Given the description of an element on the screen output the (x, y) to click on. 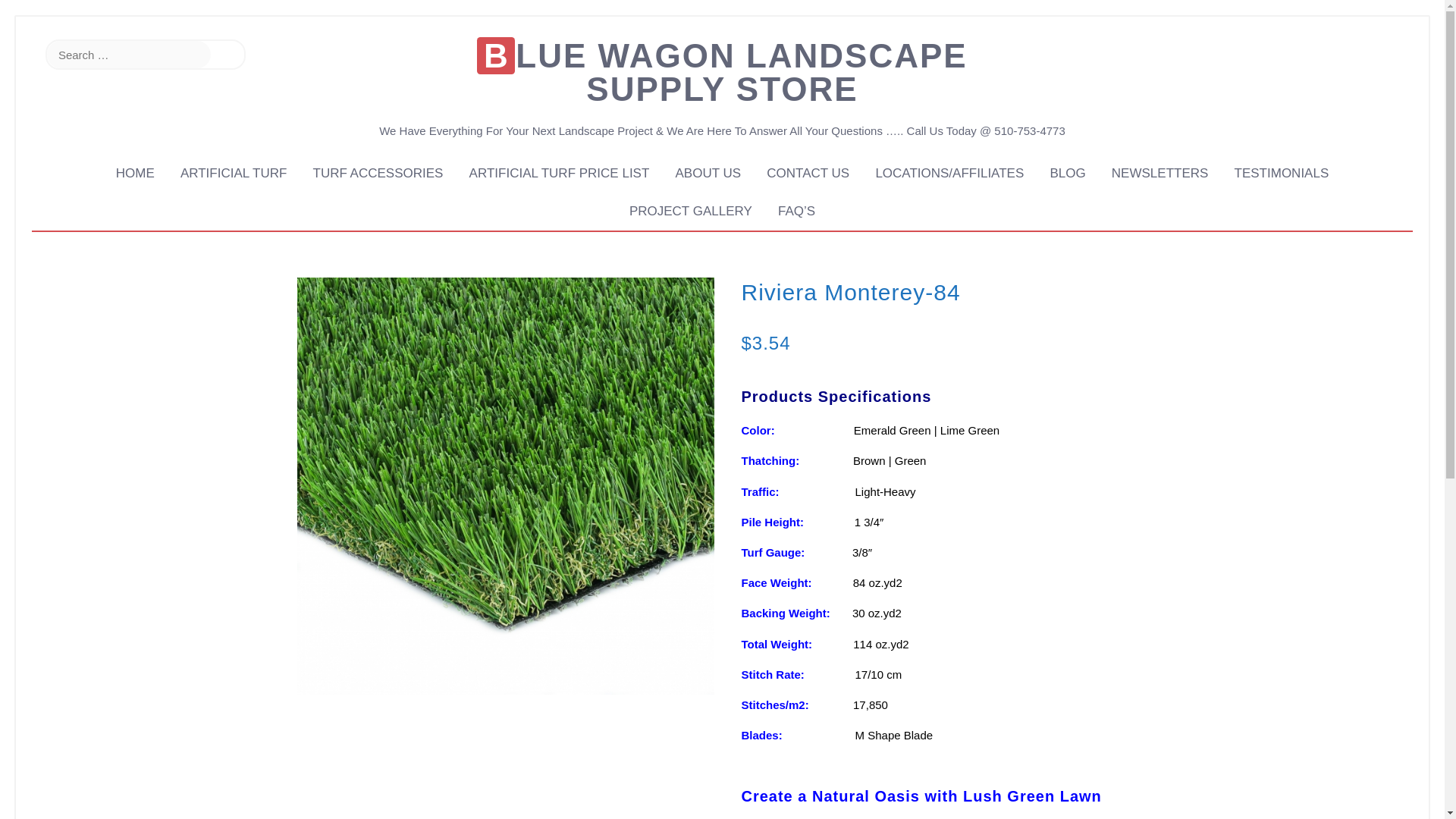
BLUE WAGON LANDSCAPE SUPPLY STORE (721, 71)
Search (227, 53)
NEWSLETTERS (1160, 173)
HOME (134, 173)
TESTIMONIALS (1281, 173)
CONTACT US (807, 173)
ARTIFICIAL TURF PRICE LIST (559, 173)
PROJECT GALLERY (689, 211)
Search (227, 53)
ABOUT US (707, 173)
